Given the description of an element on the screen output the (x, y) to click on. 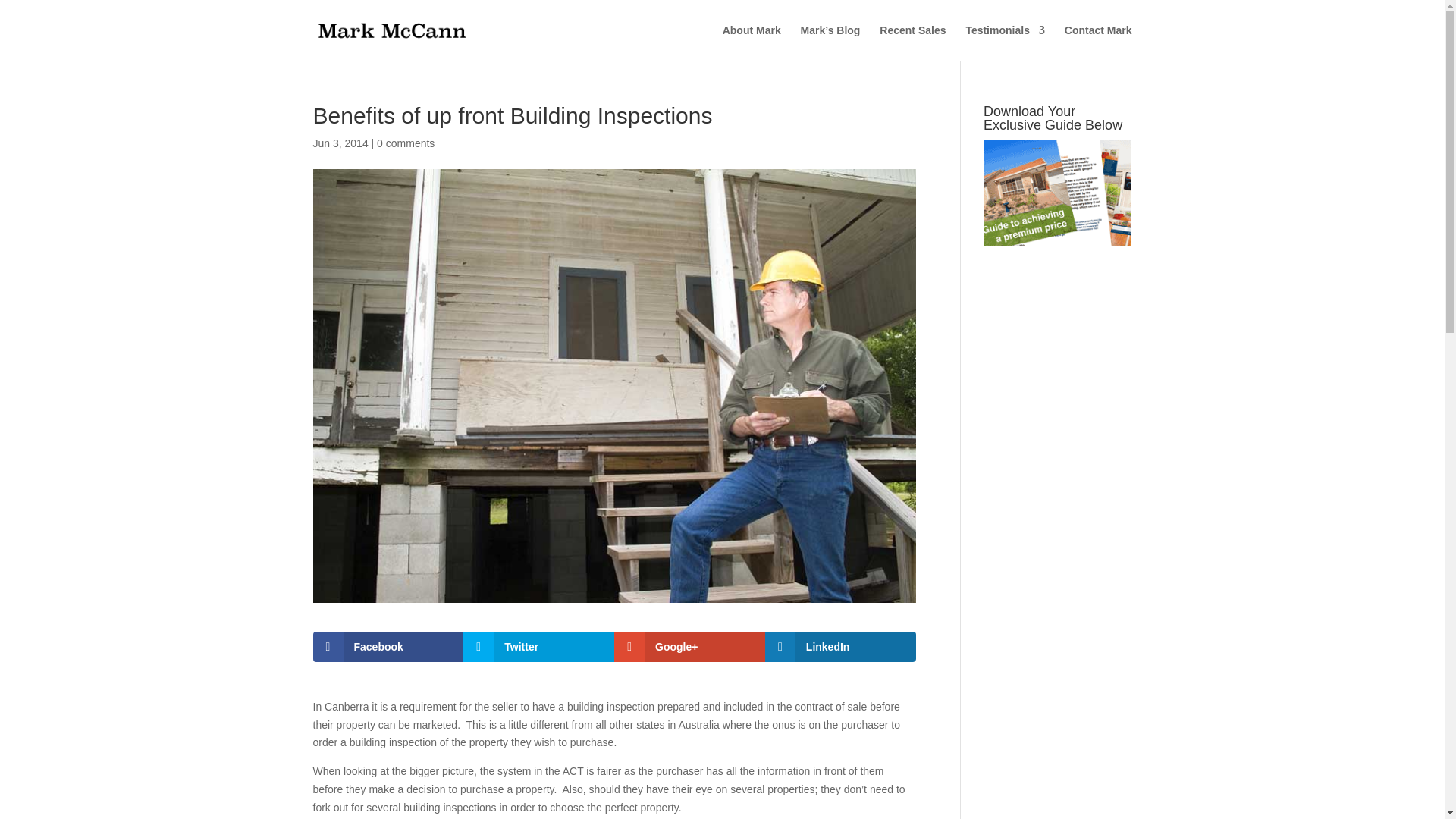
Contact Mark (1098, 42)
Recent Sales (911, 42)
0 comments (405, 143)
LinkedIn (840, 646)
Testimonials (1005, 42)
Facebook (388, 646)
Twitter (538, 646)
About Mark (751, 42)
